Given the description of an element on the screen output the (x, y) to click on. 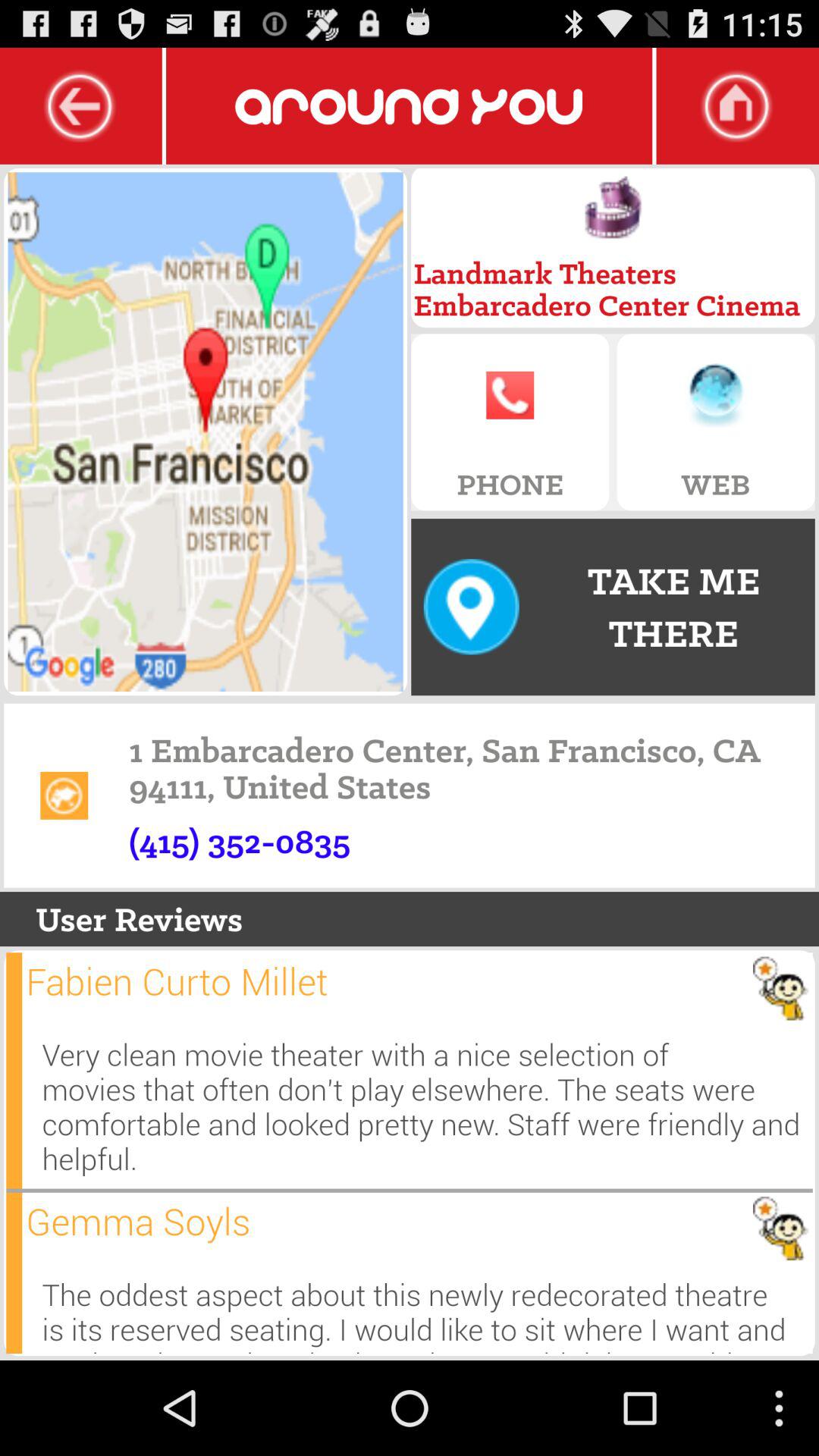
launch the item above the the oddest aspect icon (138, 1220)
